Given the description of an element on the screen output the (x, y) to click on. 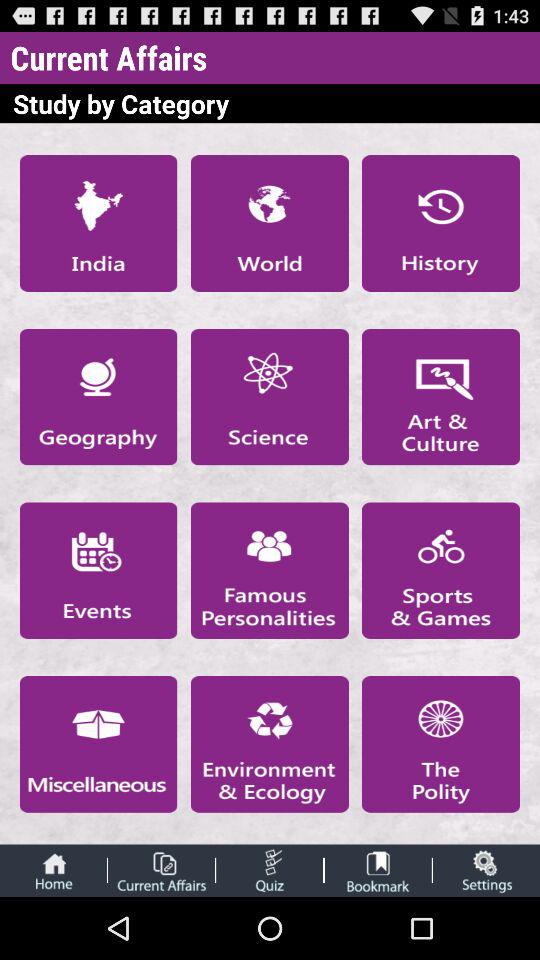
go to settings (486, 870)
